Given the description of an element on the screen output the (x, y) to click on. 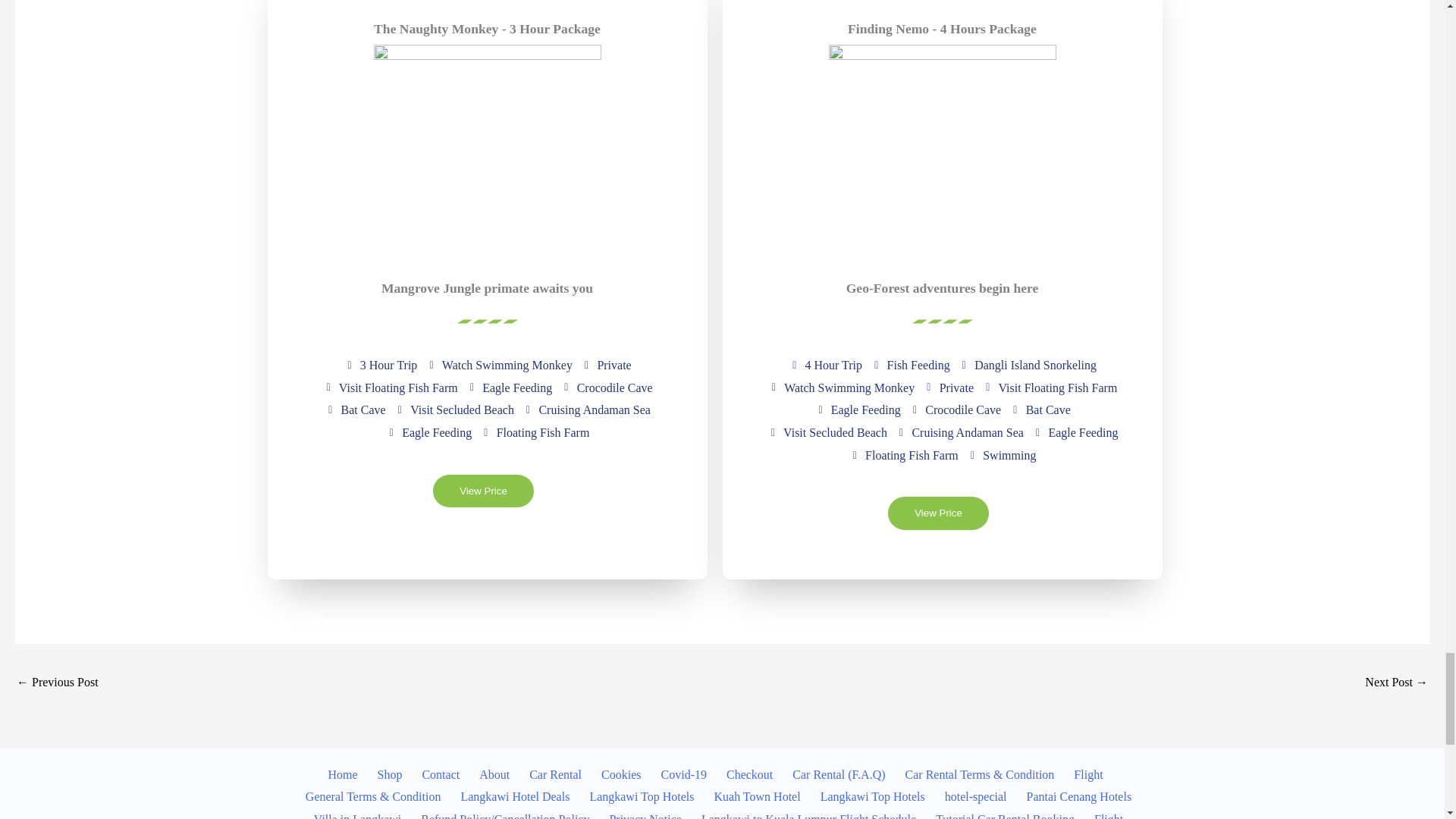
Student Internship Program Langkawi (1396, 683)
Rebirth of Pulau Singa Besar Langkawi (57, 683)
